Given the description of an element on the screen output the (x, y) to click on. 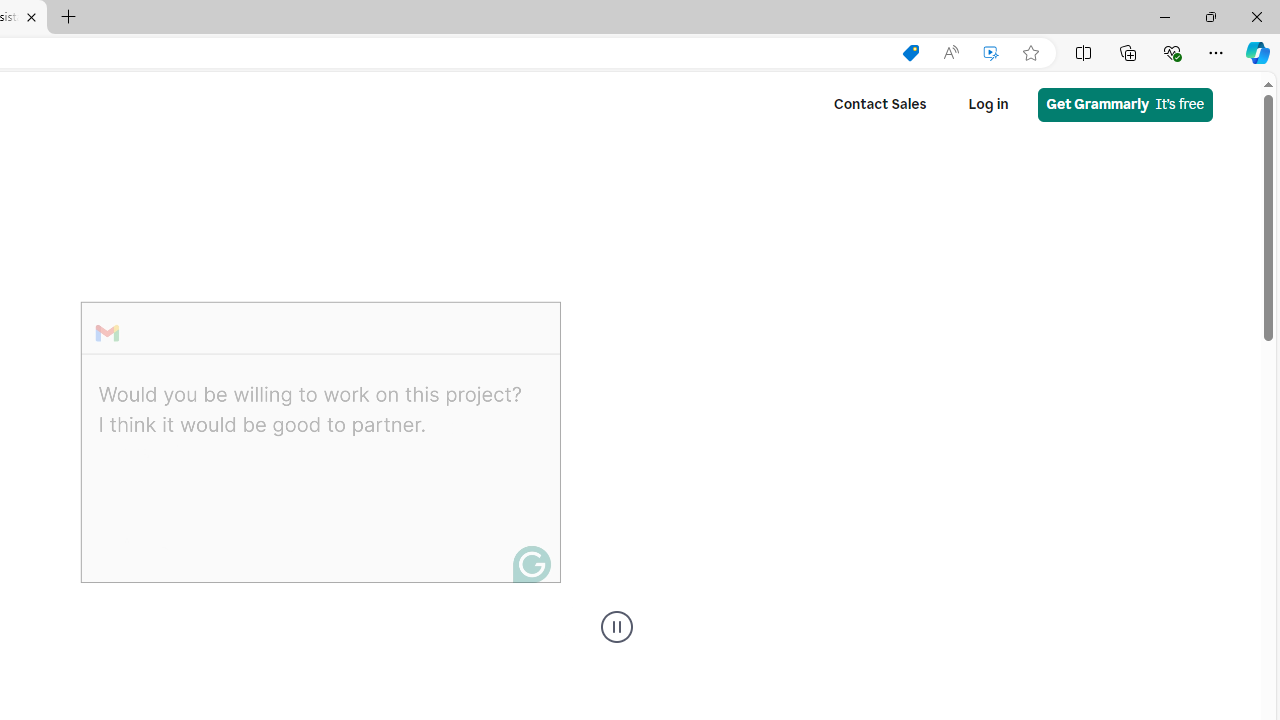
Contact Sales (879, 103)
